Given the description of an element on the screen output the (x, y) to click on. 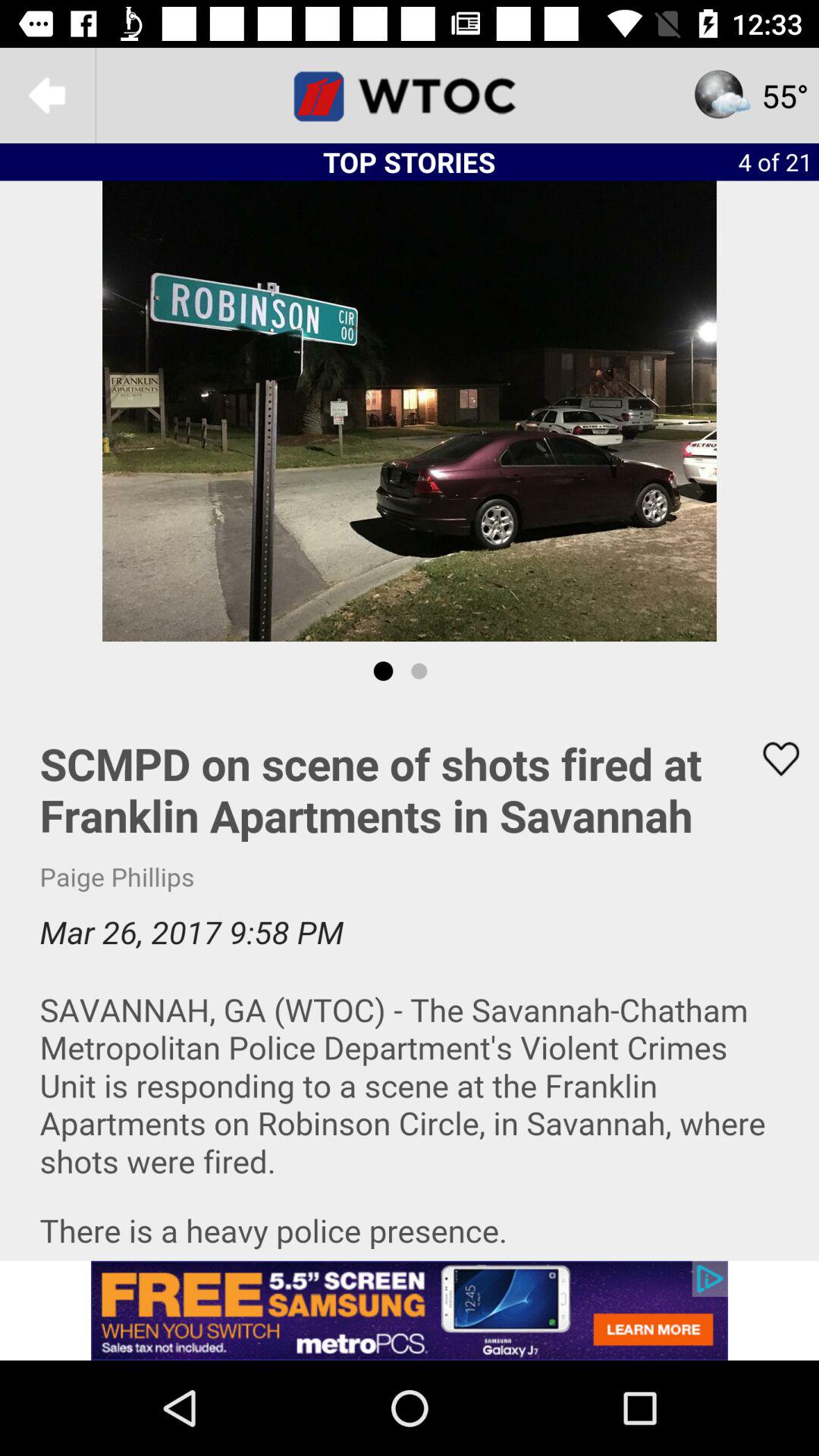
go to back (47, 95)
